Given the description of an element on the screen output the (x, y) to click on. 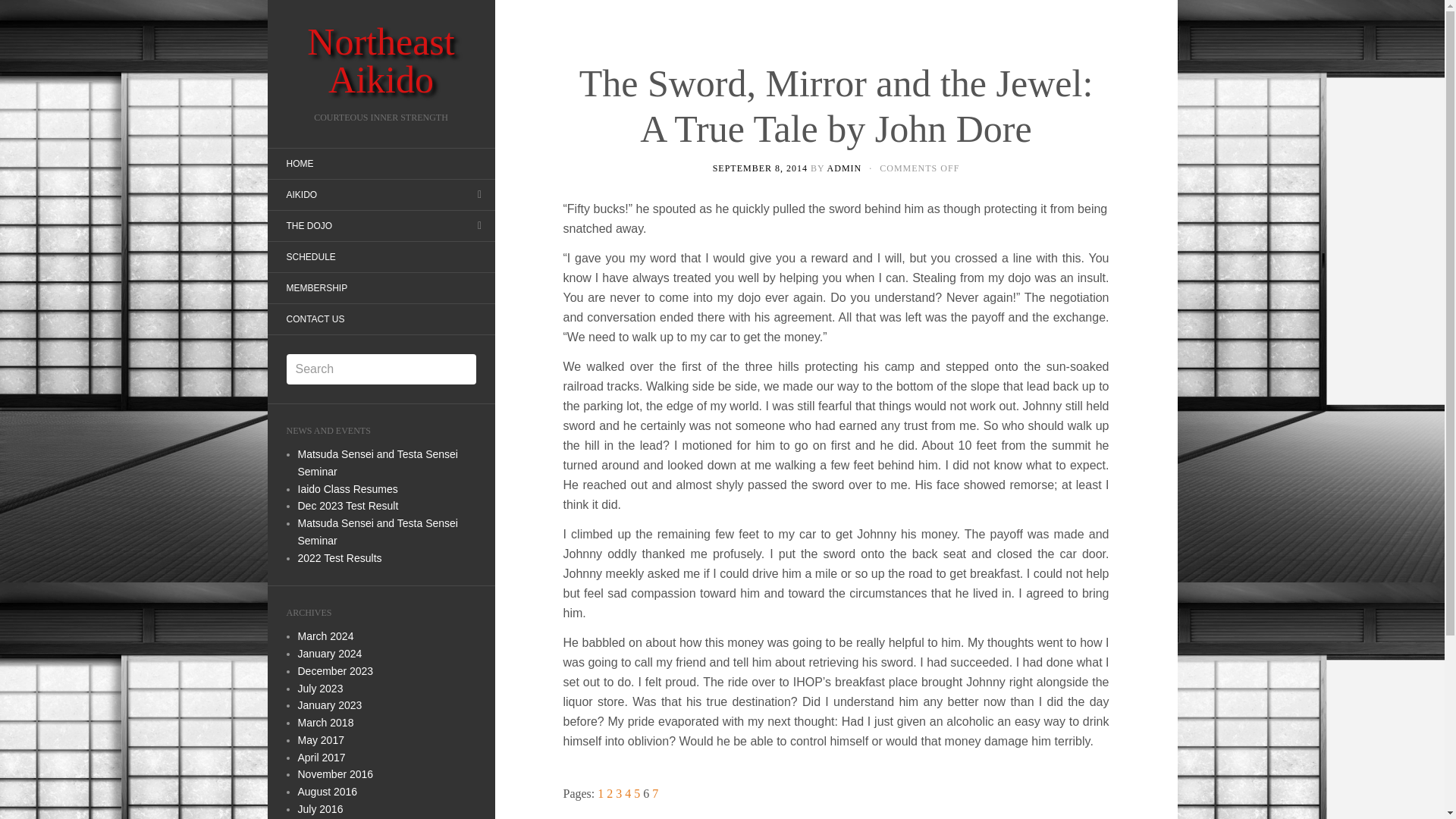
March 2018 (325, 722)
HOME (298, 163)
2022 Test Results (339, 558)
Iaido Class Resumes (347, 488)
THE DOJO (308, 225)
MEMBERSHIP (316, 288)
Matsuda Sensei and Testa Sensei Seminar (377, 531)
SCHEDULE (309, 257)
January 2023 (329, 705)
Search (22, 11)
April 2017 (321, 756)
Northeast Aikido (380, 60)
AIKIDO (301, 194)
CONTACT US (314, 319)
March 2024 (325, 635)
